Given the description of an element on the screen output the (x, y) to click on. 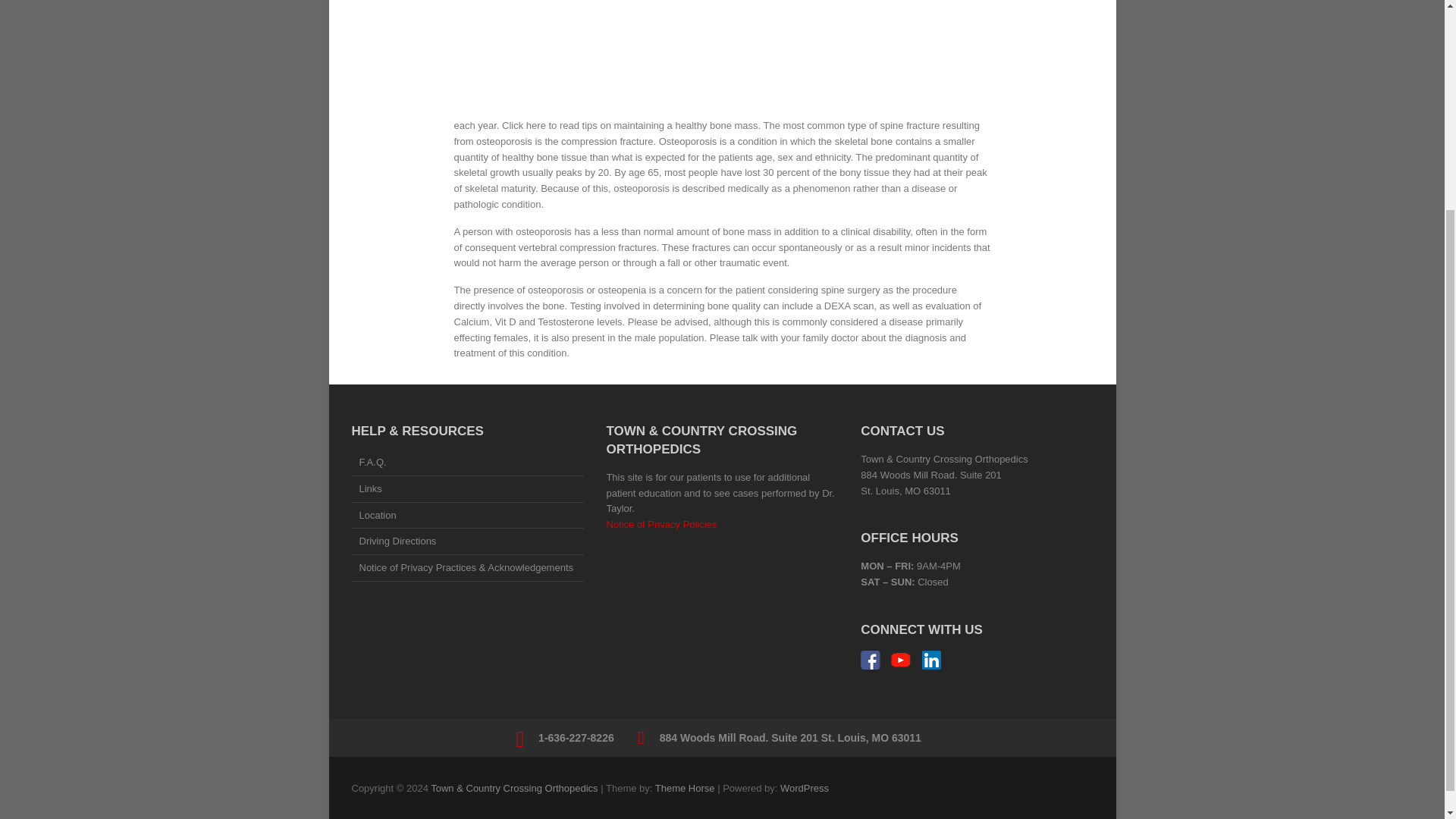
Theme Horse (684, 787)
F.A.Q. (467, 463)
Links (467, 490)
Driving Directions (467, 542)
Notice of Privacy Policies (660, 523)
osteo (528, 58)
 Call Us  (576, 736)
Location (467, 517)
WordPress (804, 787)
